Given the description of an element on the screen output the (x, y) to click on. 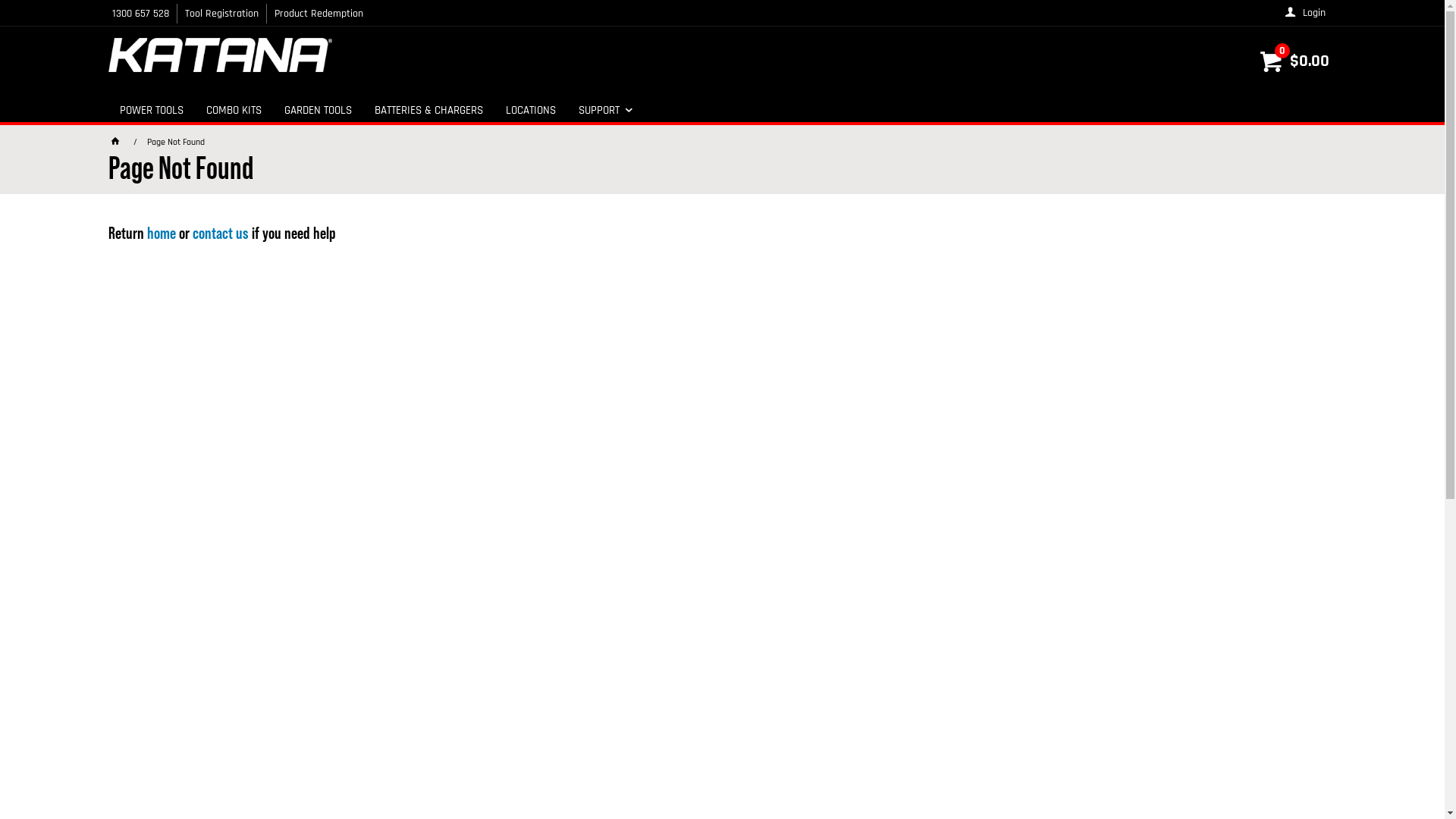
home Element type: text (161, 233)
contact us Element type: text (220, 233)
1300 657 528 Element type: text (141, 13)
BATTERIES & CHARGERS Element type: text (427, 109)
GARDEN TOOLS Element type: text (318, 109)
COMBO KITS Element type: text (233, 109)
LOCATIONS Element type: text (530, 109)
Login Element type: text (1305, 12)
$0.00
0 Element type: text (1293, 61)
POWER TOOLS Element type: text (150, 109)
Tool Registration Element type: text (221, 13)
Product Redemption Element type: text (318, 13)
